Given the description of an element on the screen output the (x, y) to click on. 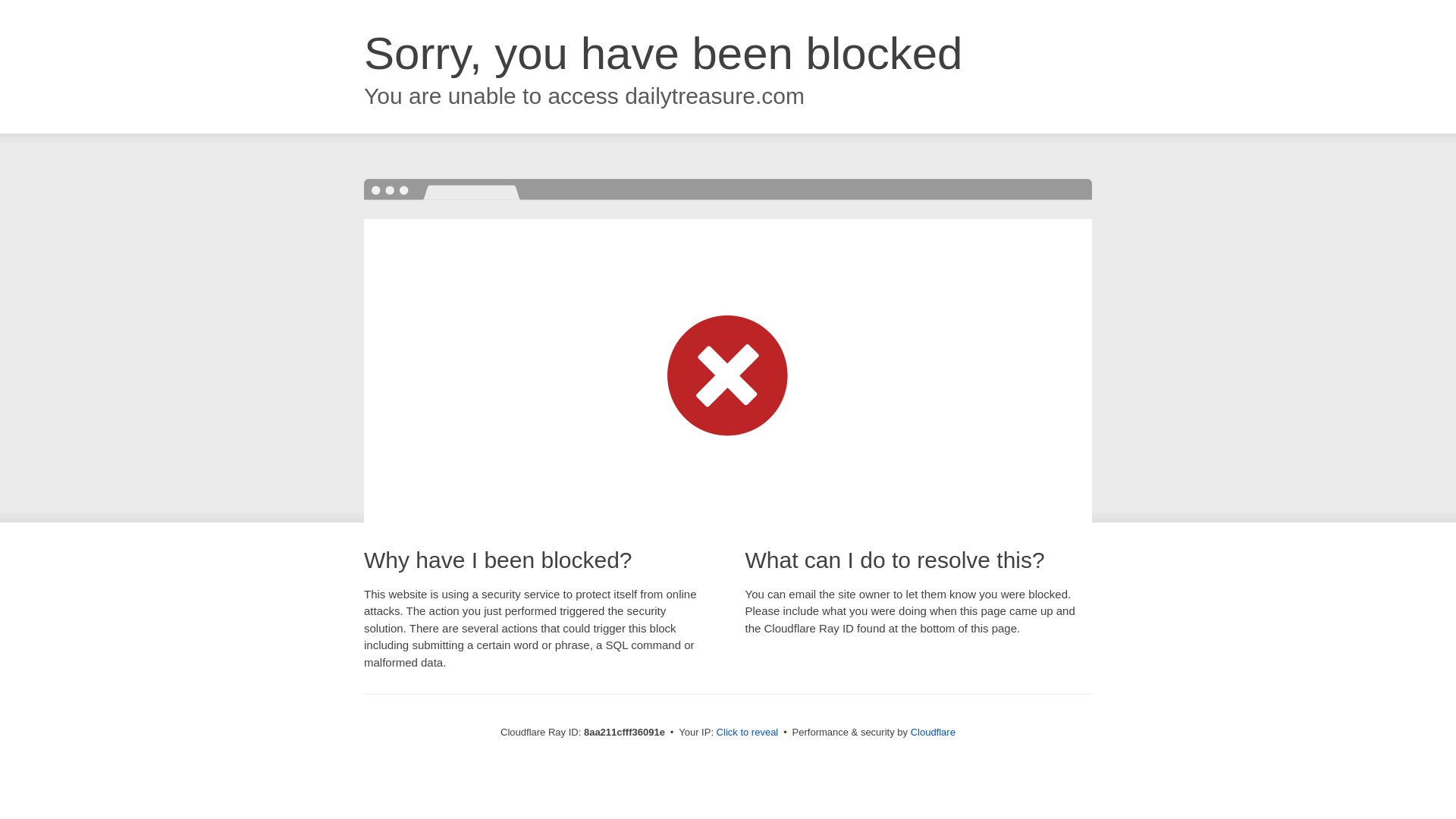
Cloudflare (933, 731)
Click to reveal (747, 732)
